Given the description of an element on the screen output the (x, y) to click on. 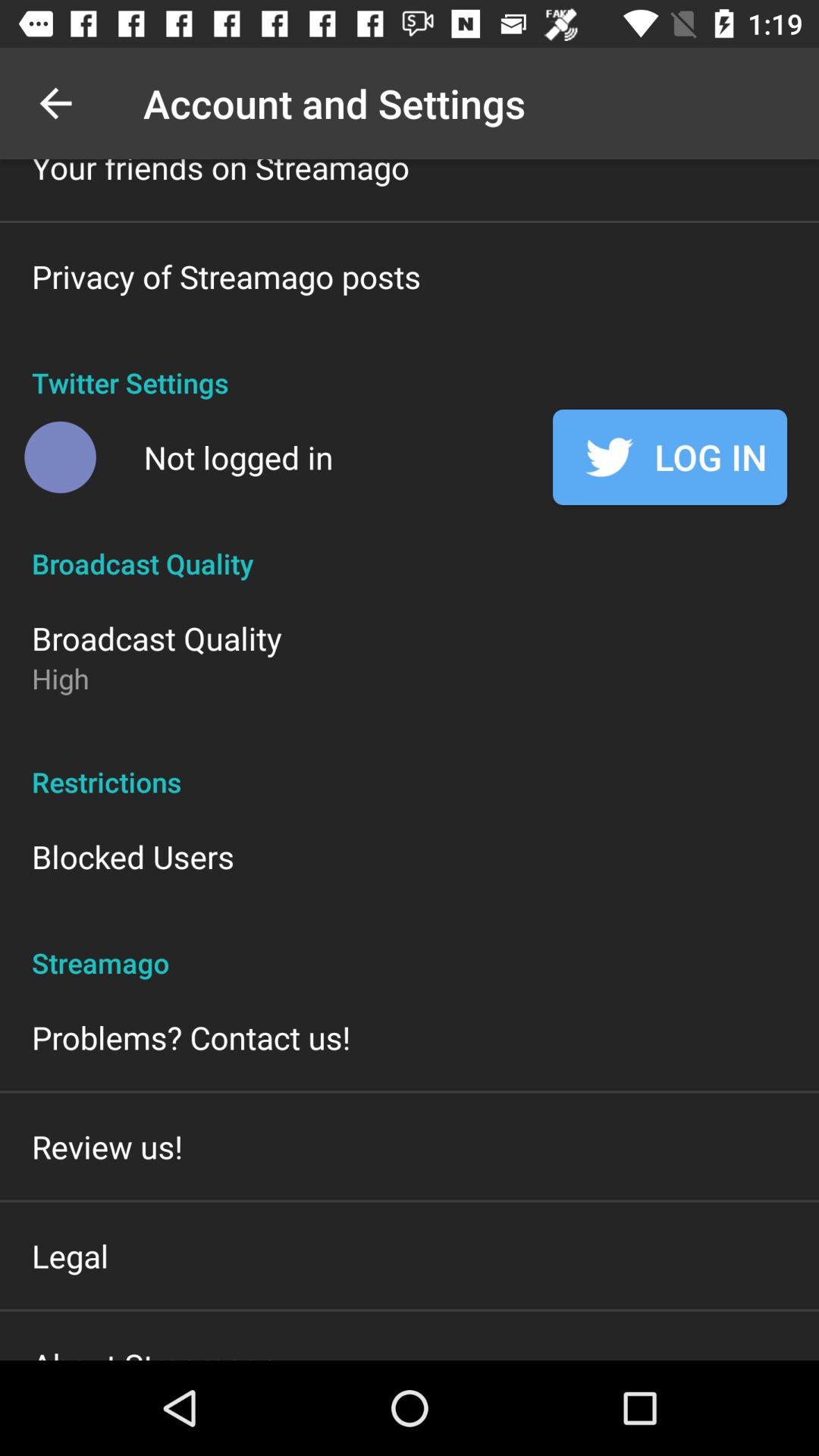
turn on about streamago icon (154, 1351)
